Given the description of an element on the screen output the (x, y) to click on. 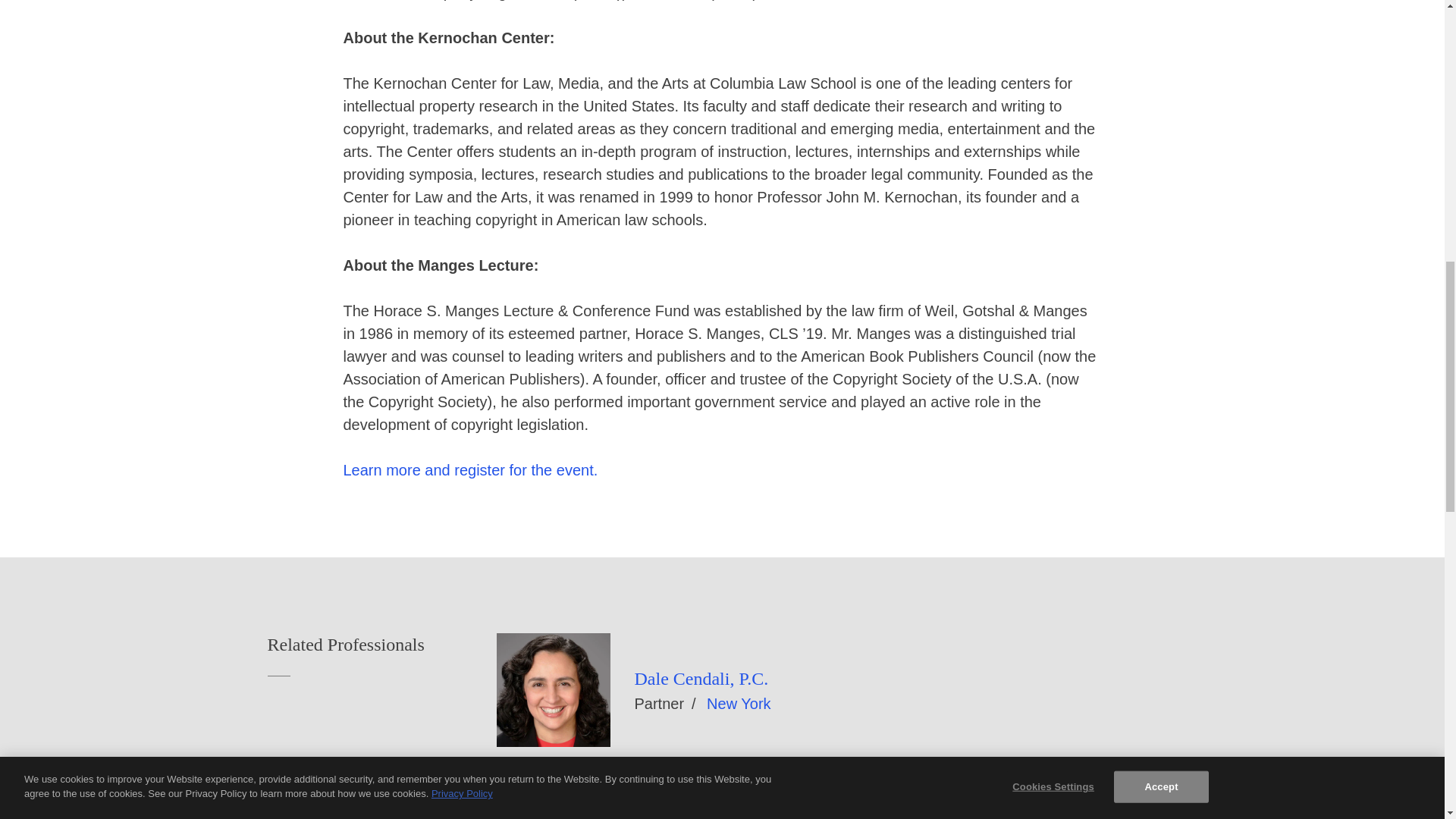
Learn more and register for the event. (469, 469)
New York (738, 703)
Dale Cendali, P.C. (700, 678)
